Given the description of an element on the screen output the (x, y) to click on. 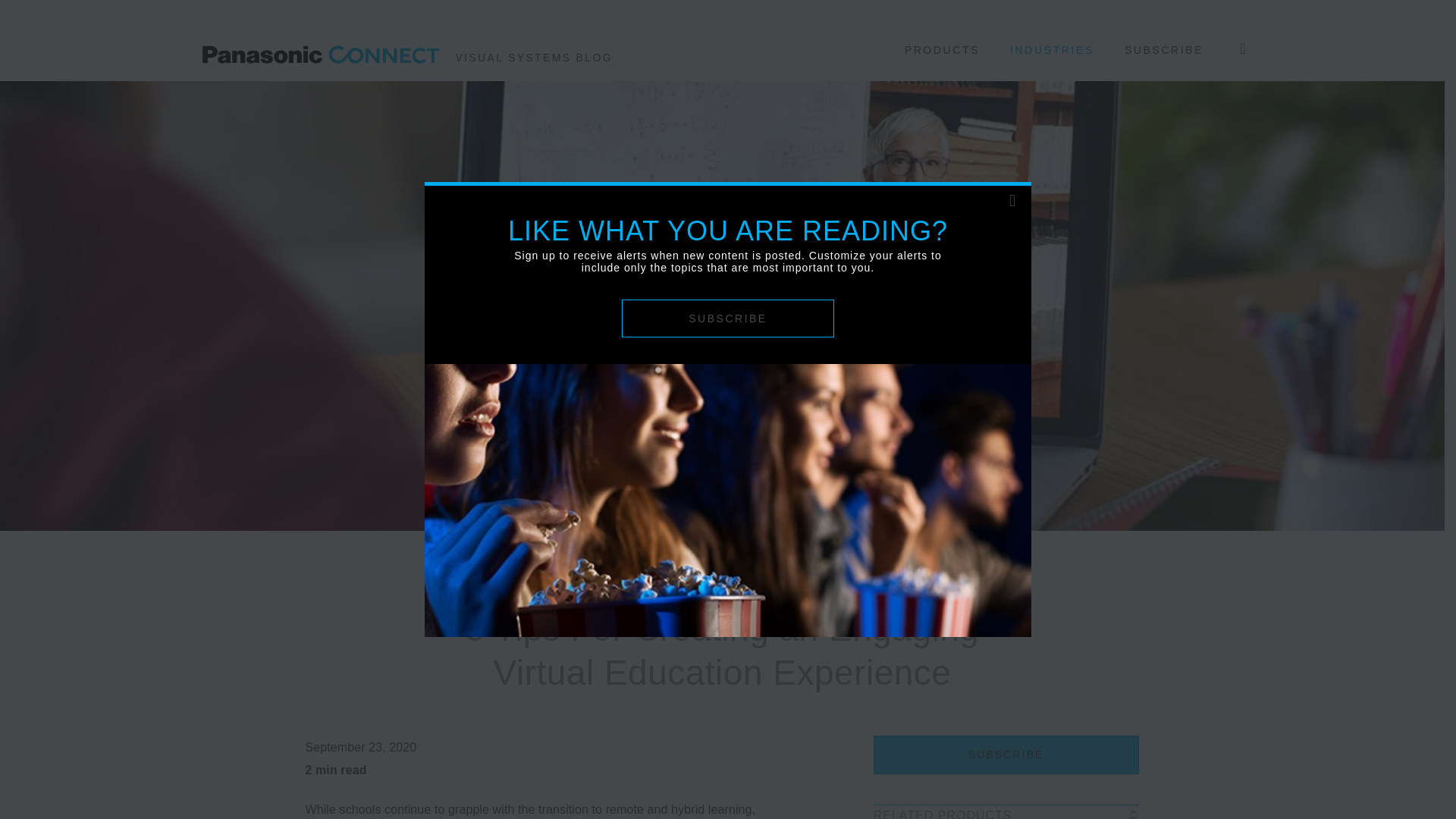
Panasonic Visual Systems Blog (319, 39)
SUBSCRIBE (1005, 754)
SUBSCRIBE (1169, 40)
PRODUCTS (941, 40)
VISUAL SYSTEMS BLOG (319, 39)
INDUSTRIES (1051, 40)
